Given the description of an element on the screen output the (x, y) to click on. 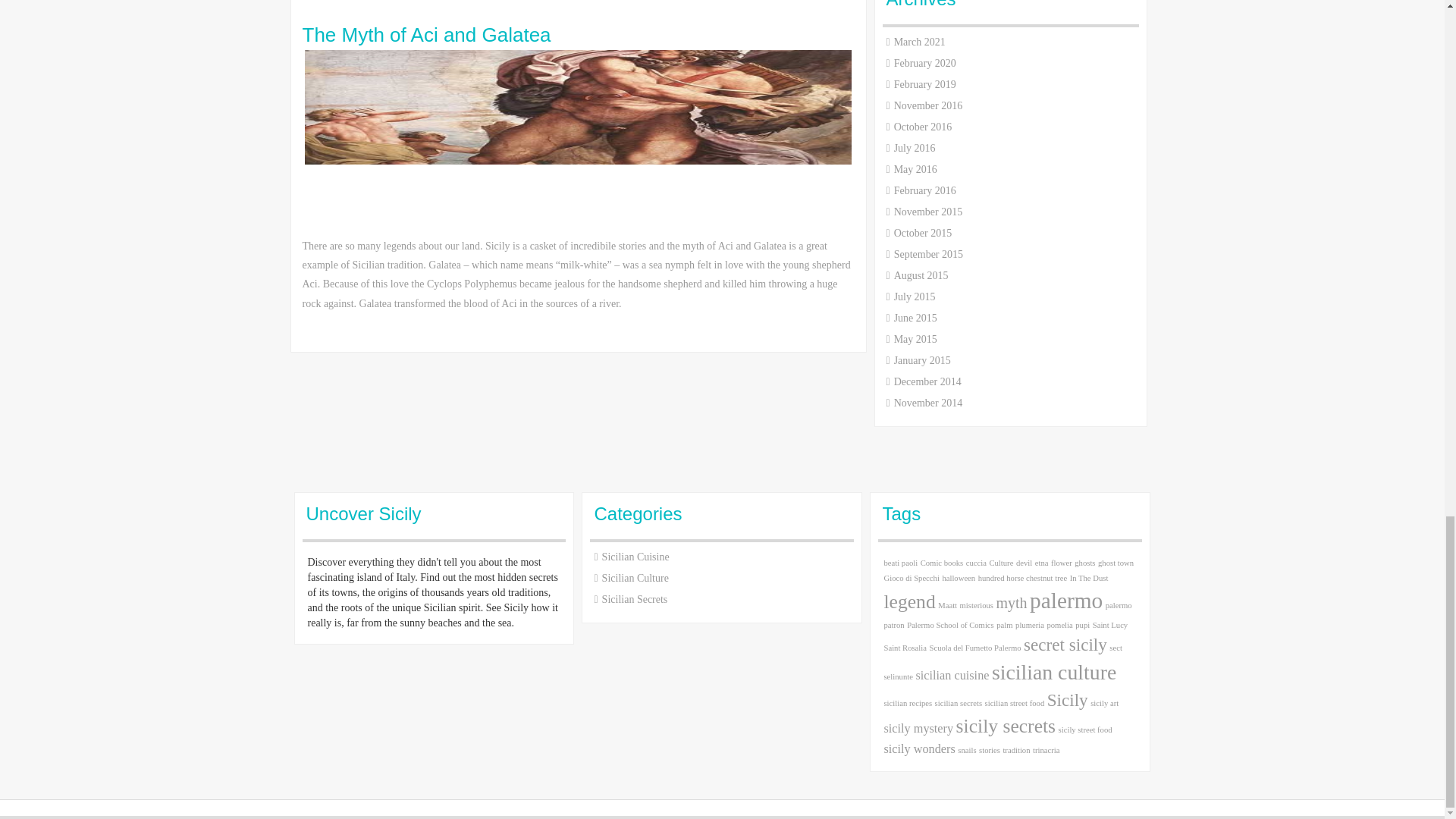
The Myth of Aci and Galatea (577, 34)
